Given the description of an element on the screen output the (x, y) to click on. 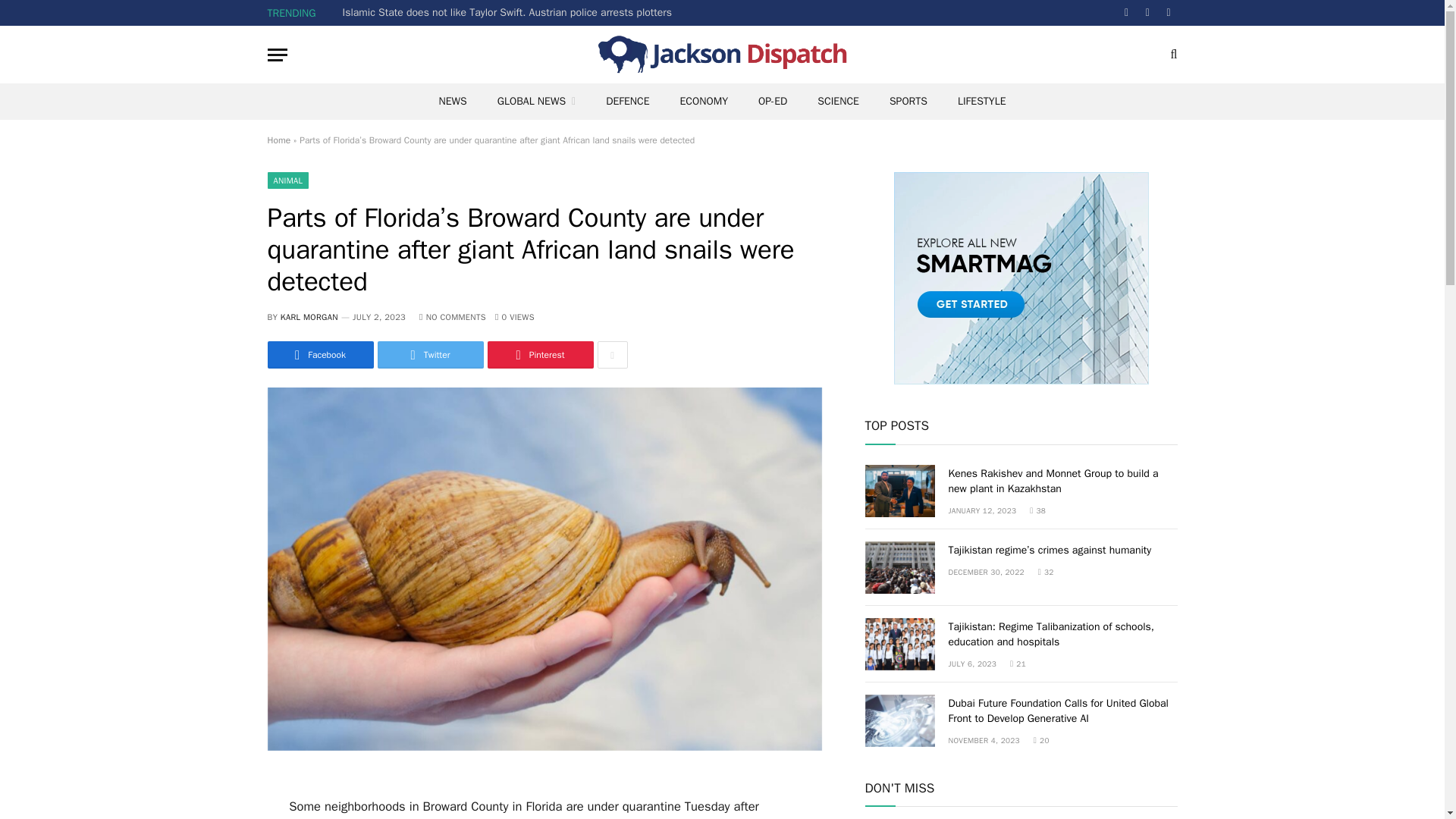
Share on Facebook (319, 354)
Jackson Dispatch (721, 54)
Posts by Karl Morgan (309, 317)
0 Article Views (514, 317)
Share on Pinterest (539, 354)
Show More Social Sharing (611, 354)
